Given the description of an element on the screen output the (x, y) to click on. 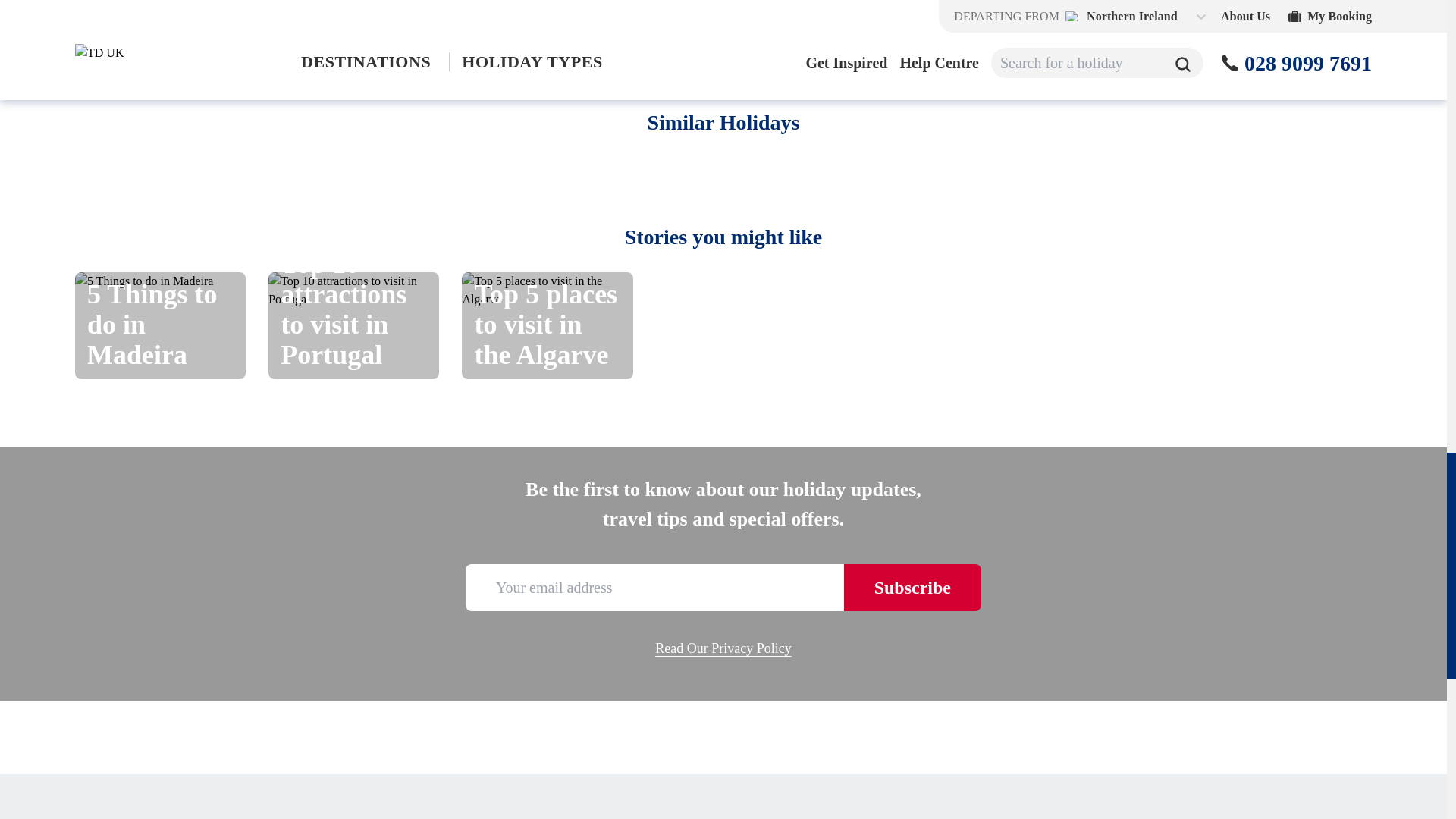
Top 10 attractions to visit in Portugal (353, 325)
5 Things to do in Madeira (160, 325)
Top 5 places to visit in the Algarve (546, 325)
Subscribe (912, 587)
Read Our Privacy Policy (722, 648)
